Given the description of an element on the screen output the (x, y) to click on. 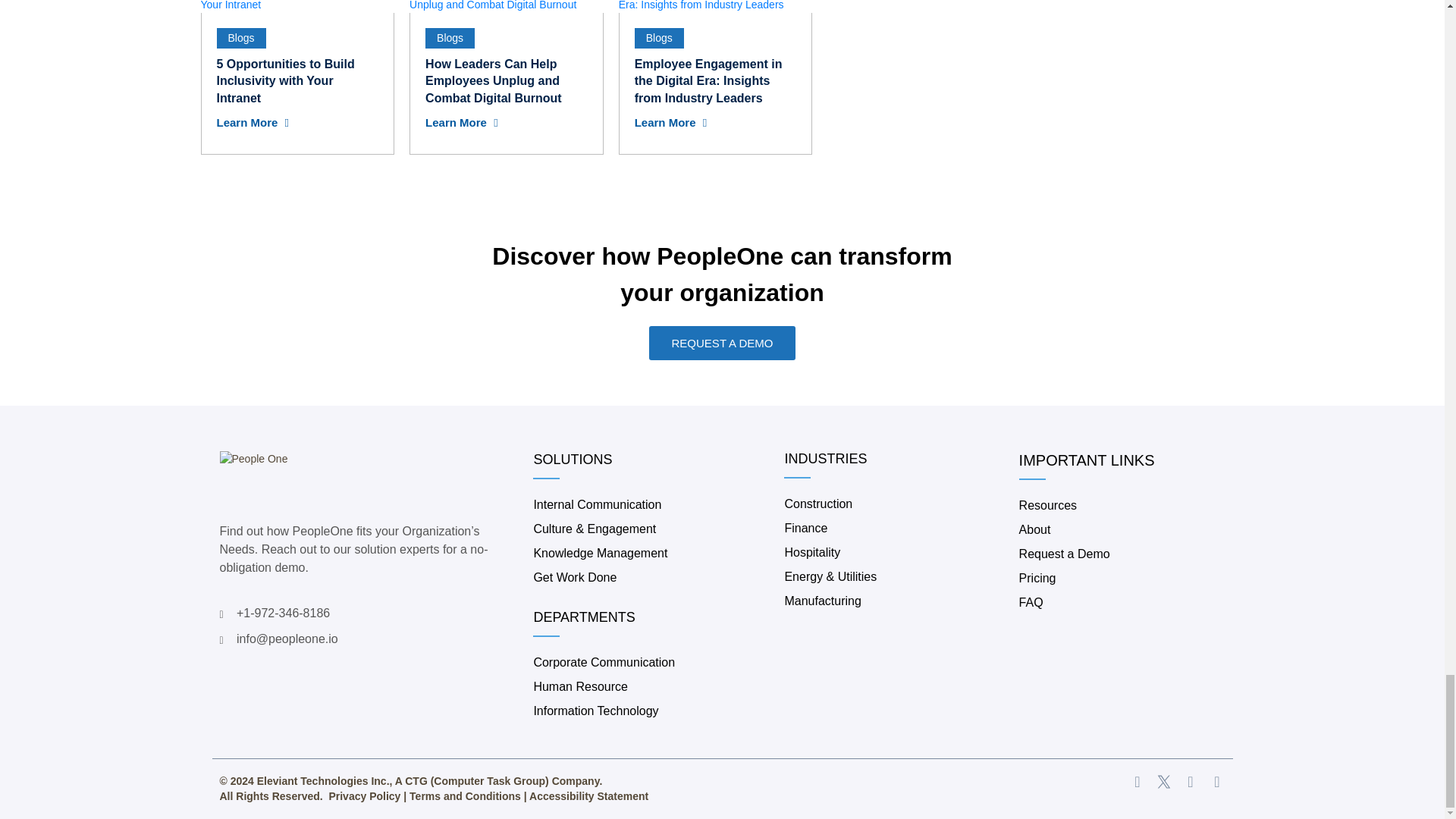
Learn More (252, 122)
5 Opportunities to Build Inclusivity with Your Intranet (285, 80)
